Given the description of an element on the screen output the (x, y) to click on. 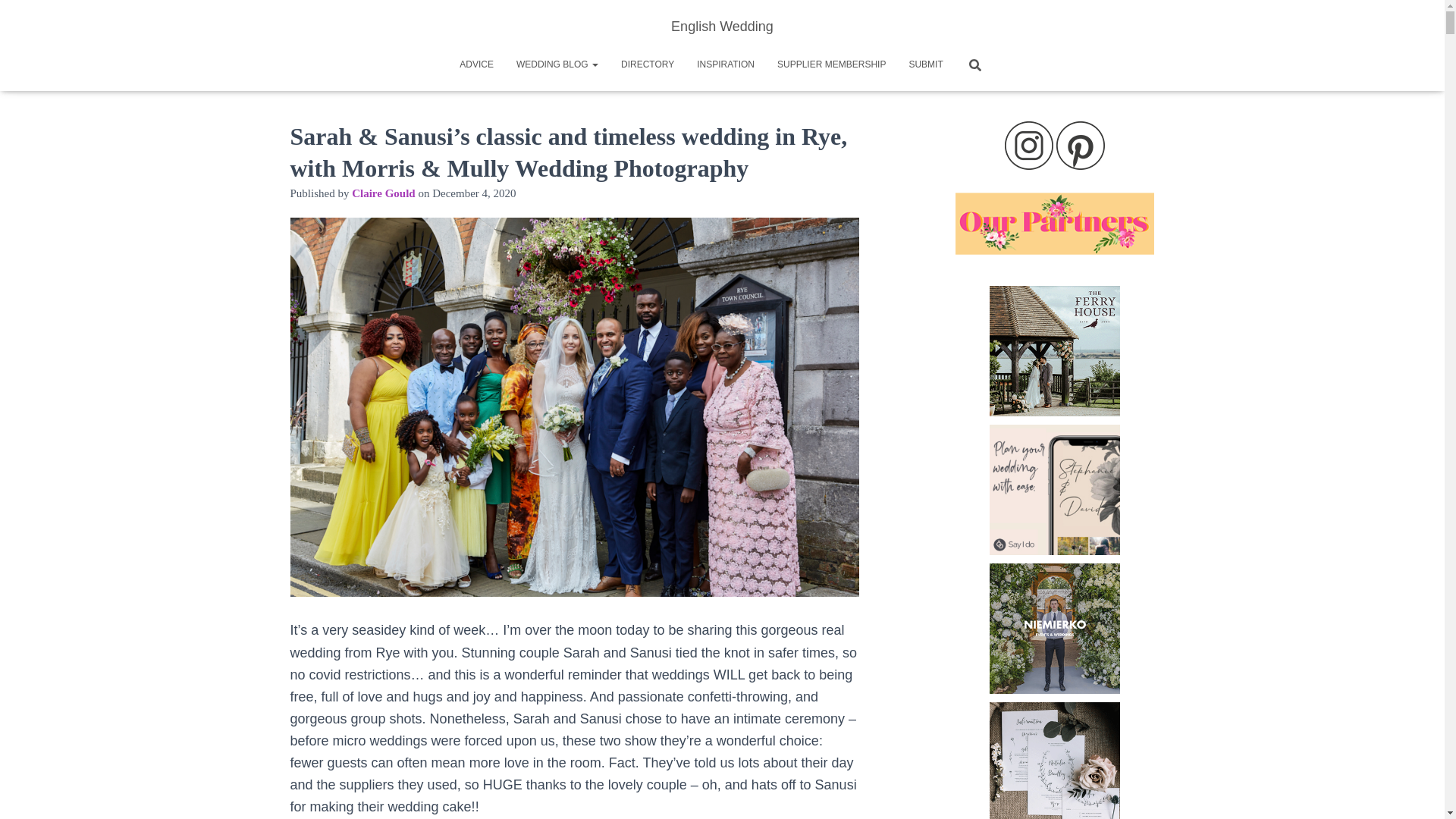
Directory (647, 64)
English Wedding (721, 26)
WEDDING BLOG (557, 64)
ADVICE (476, 64)
INSPIRATION (725, 64)
SUPPLIER MEMBERSHIP (830, 64)
DIRECTORY (647, 64)
Wedding Blog (557, 64)
SUBMIT (924, 64)
Claire Gould (383, 193)
